Given the description of an element on the screen output the (x, y) to click on. 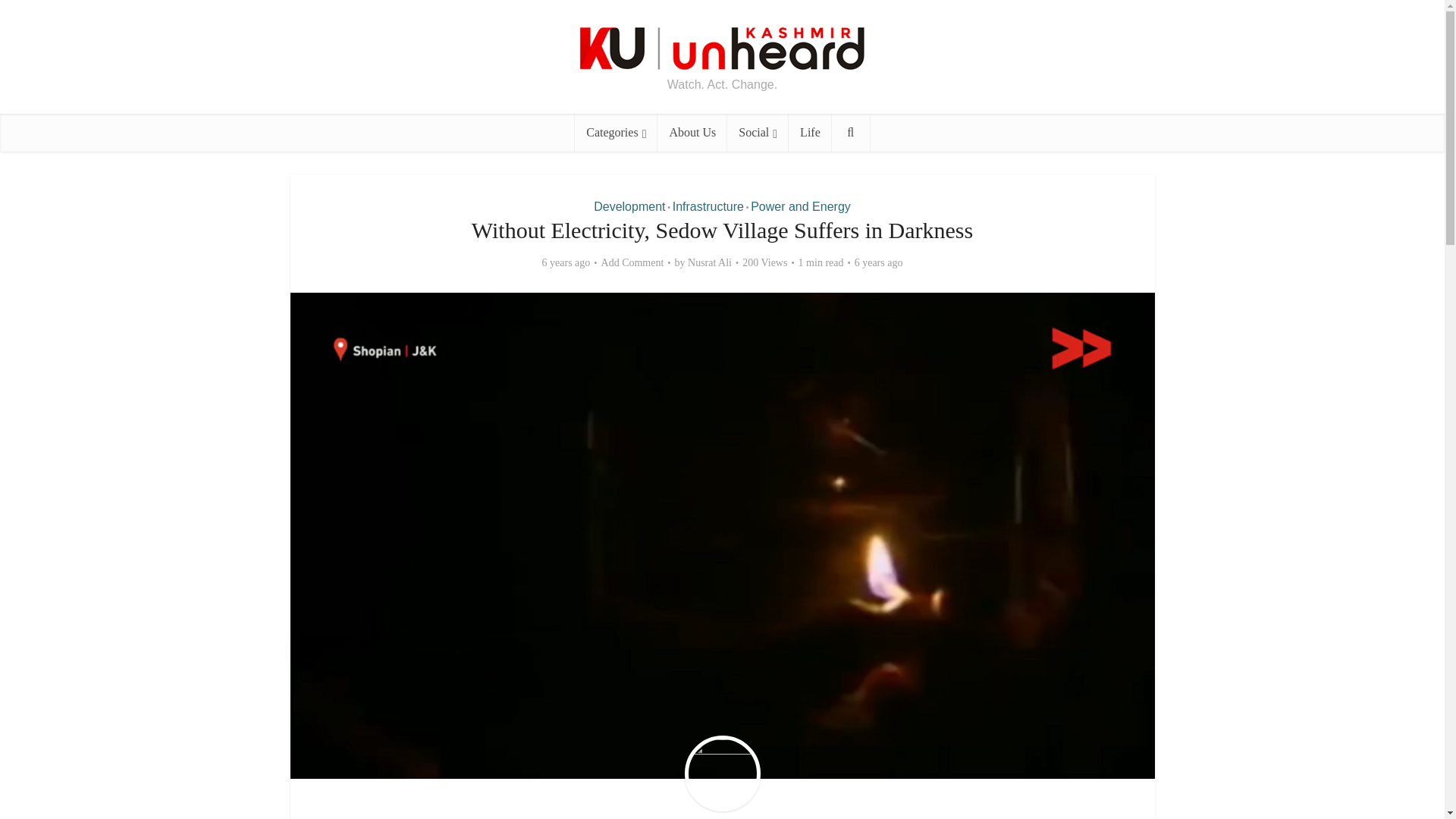
About Us (692, 132)
Categories (616, 132)
Life (810, 132)
Social (757, 132)
